Given the description of an element on the screen output the (x, y) to click on. 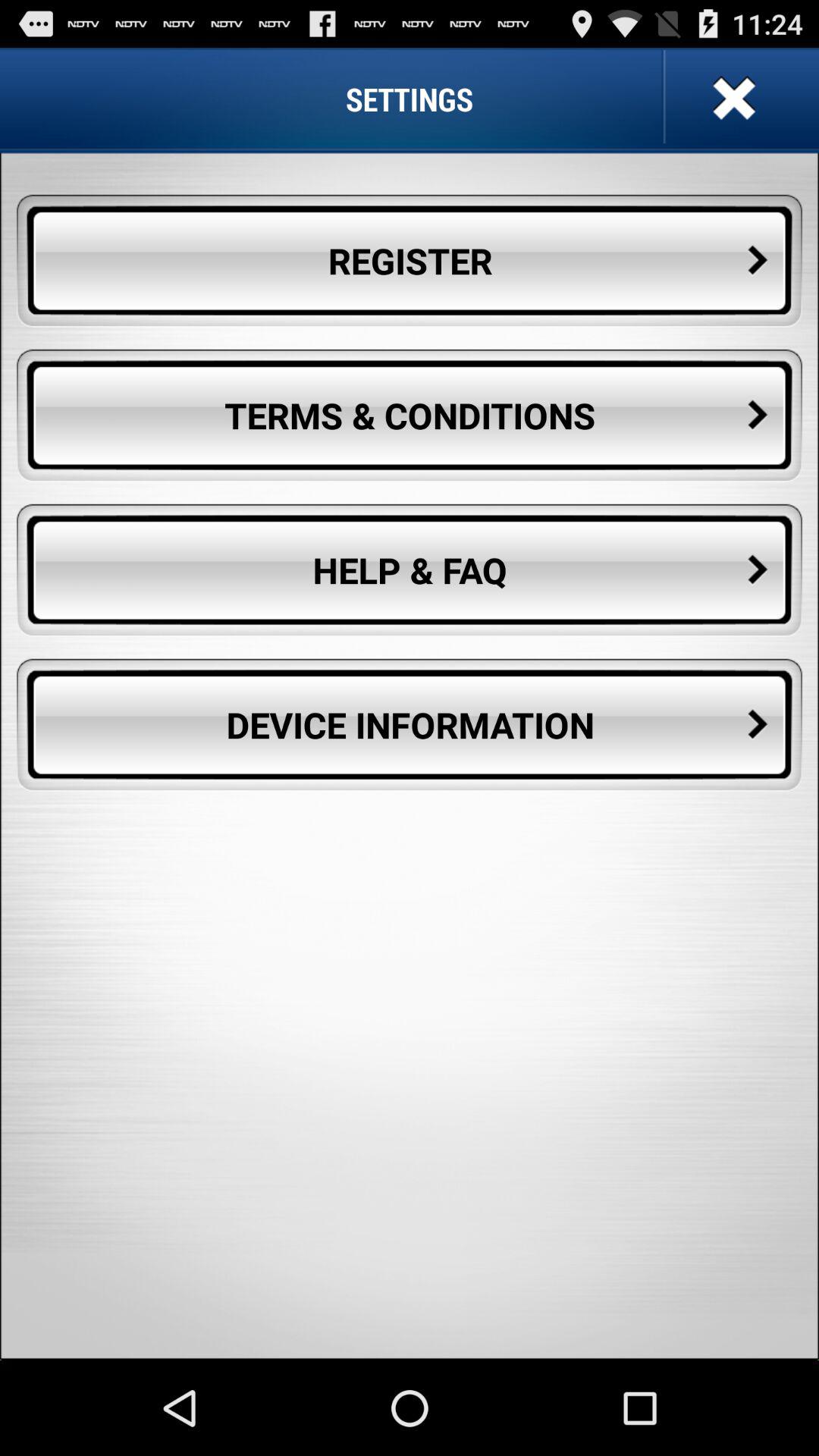
tap help & faq icon (409, 570)
